Given the description of an element on the screen output the (x, y) to click on. 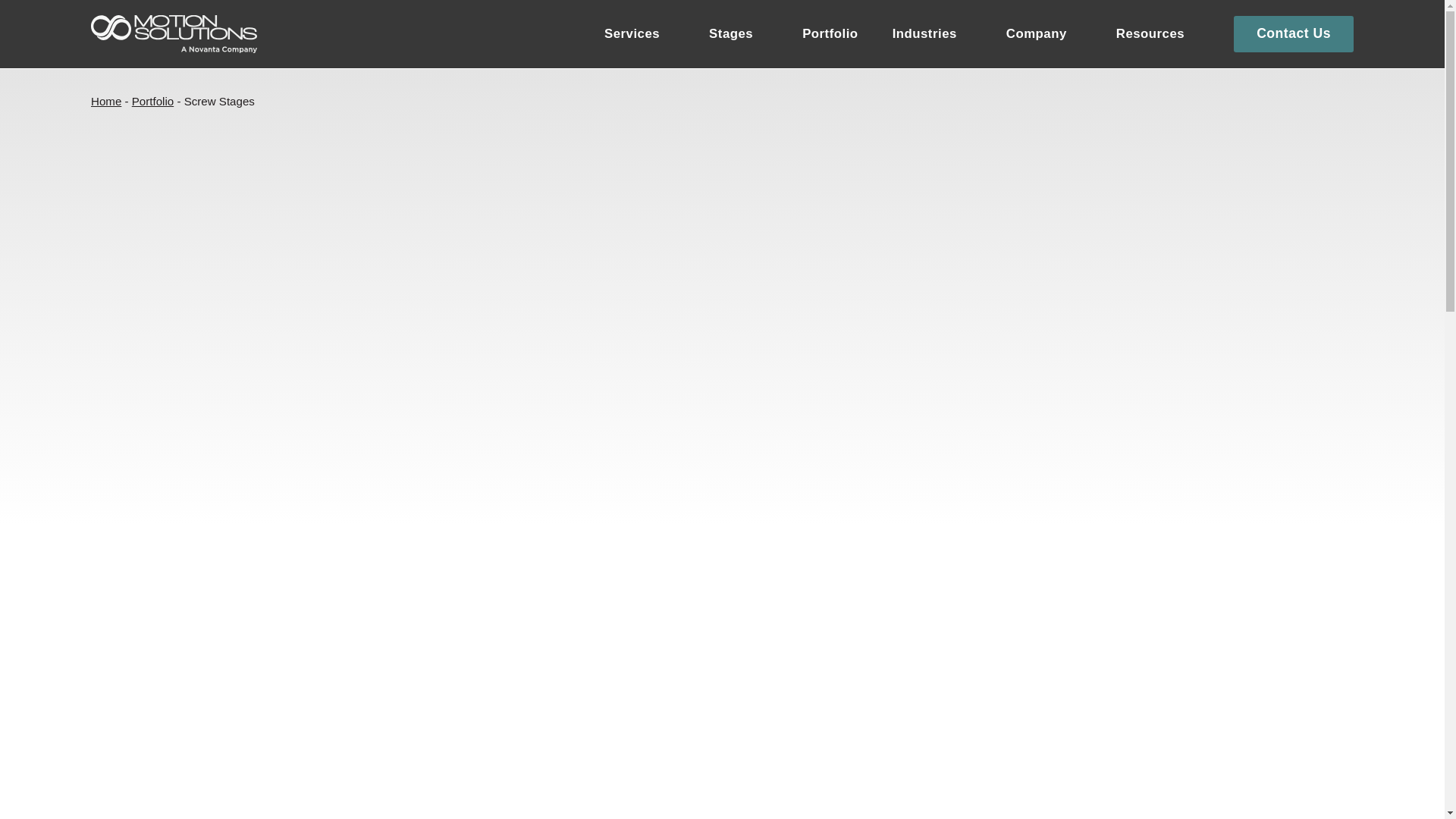
Company (1043, 34)
Home (105, 101)
Portfolio (829, 34)
Stages (738, 34)
Motion Solutions Homepage (173, 34)
Industries (932, 34)
Services (639, 34)
Resources (1157, 34)
Contact Us (1293, 33)
